Given the description of an element on the screen output the (x, y) to click on. 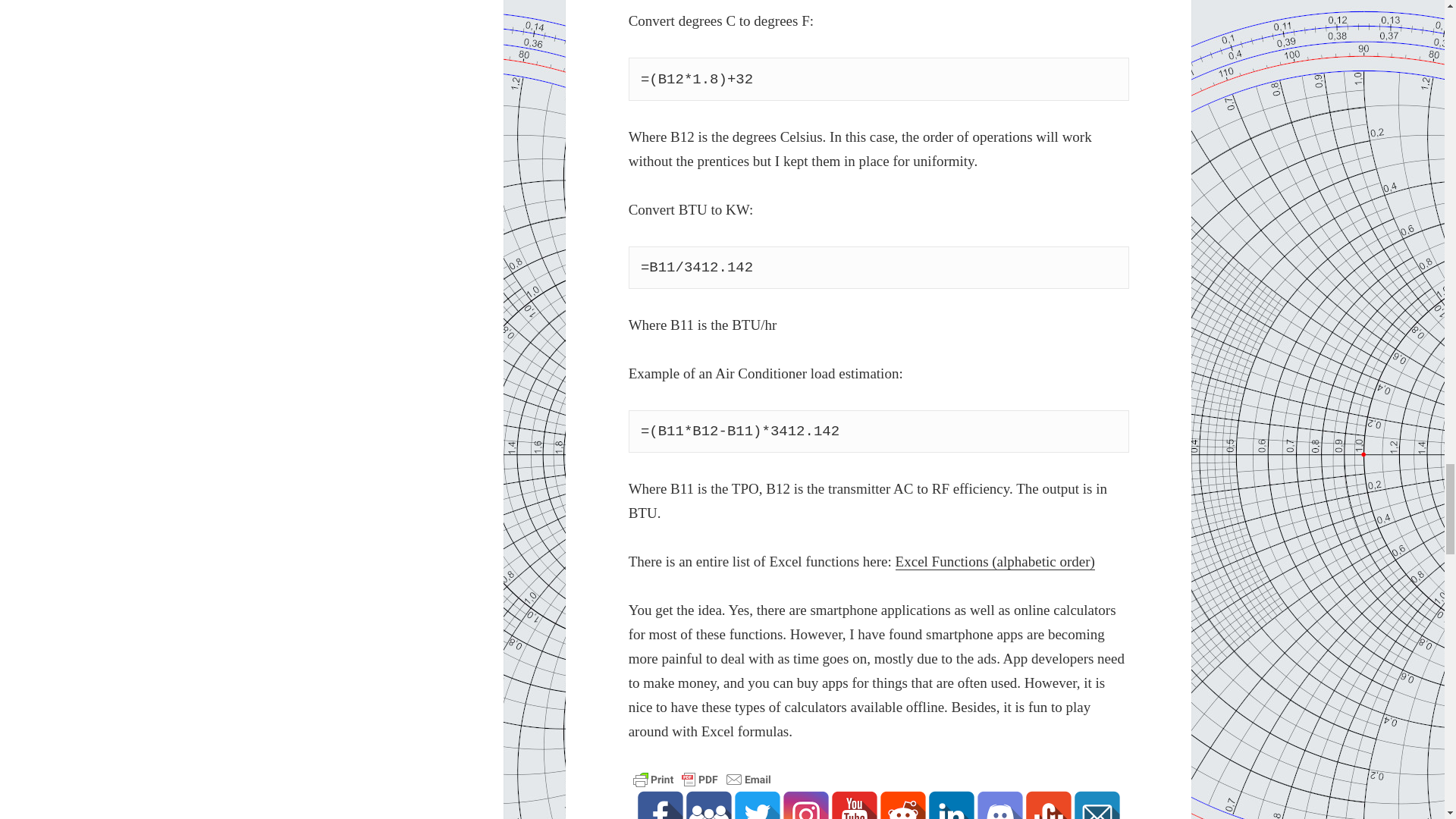
StumbleUpon (1049, 805)
Discord (1000, 805)
YouTube (854, 805)
Reddit (903, 805)
LinkedIn (951, 805)
Email (1097, 805)
Facebook (660, 805)
Twitter (757, 805)
Instagram (805, 805)
Facebook Group (708, 805)
